Given the description of an element on the screen output the (x, y) to click on. 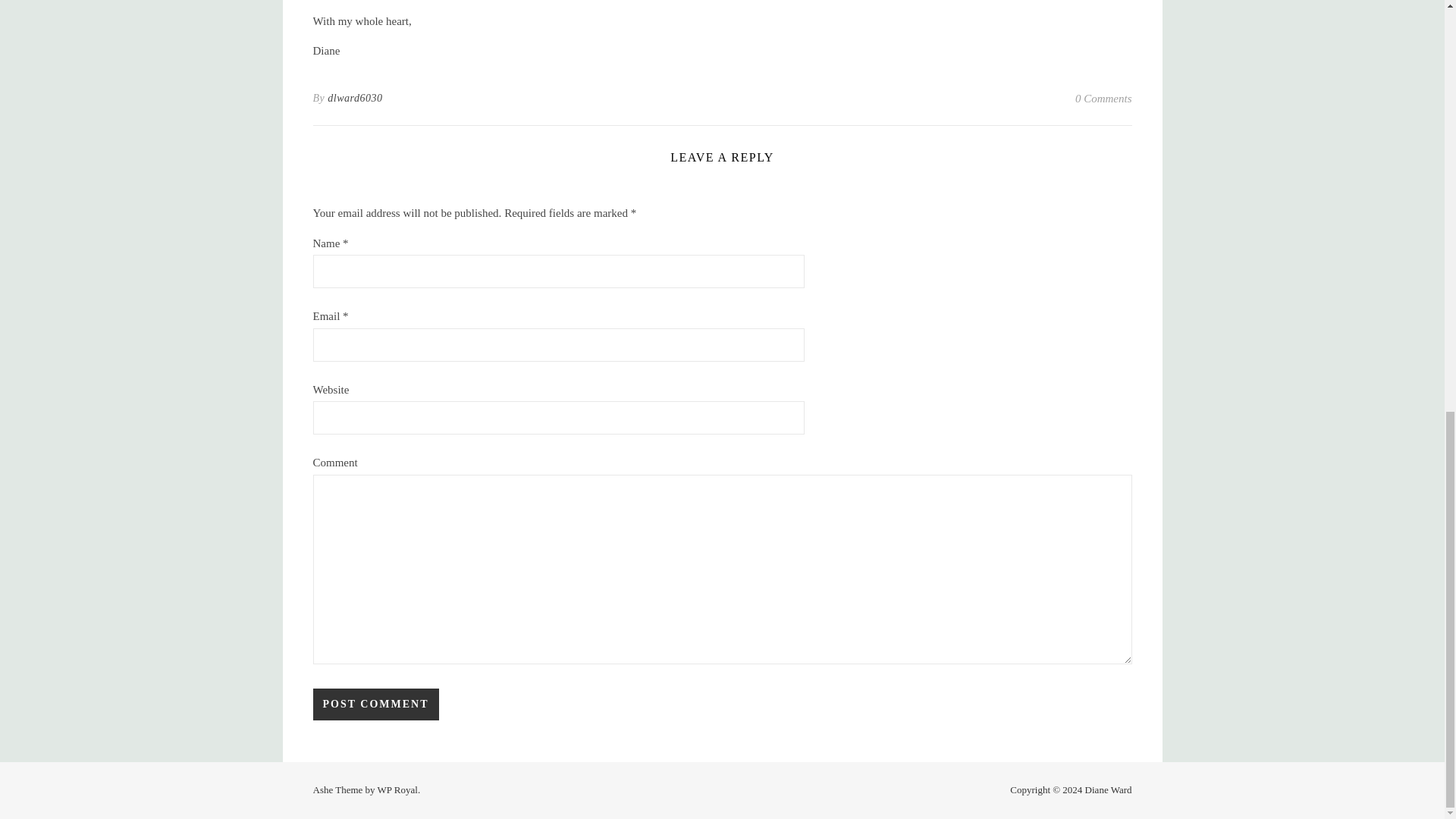
Post Comment (375, 704)
Posts by dlward6030 (354, 97)
Post Comment (375, 704)
0 Comments (1103, 97)
dlward6030 (354, 97)
WP Royal (397, 789)
